Given the description of an element on the screen output the (x, y) to click on. 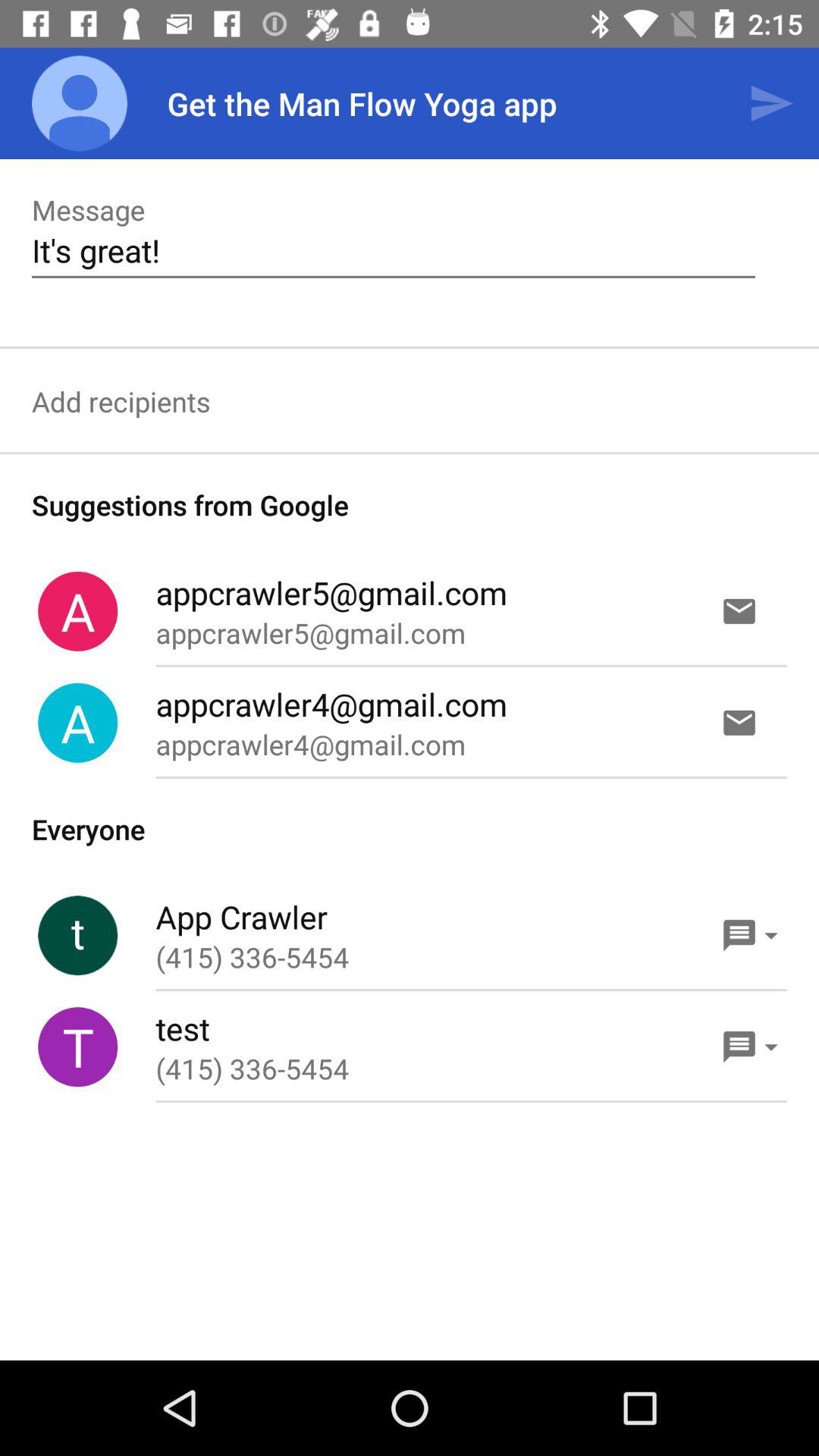
turn off it's great! item (393, 249)
